Given the description of an element on the screen output the (x, y) to click on. 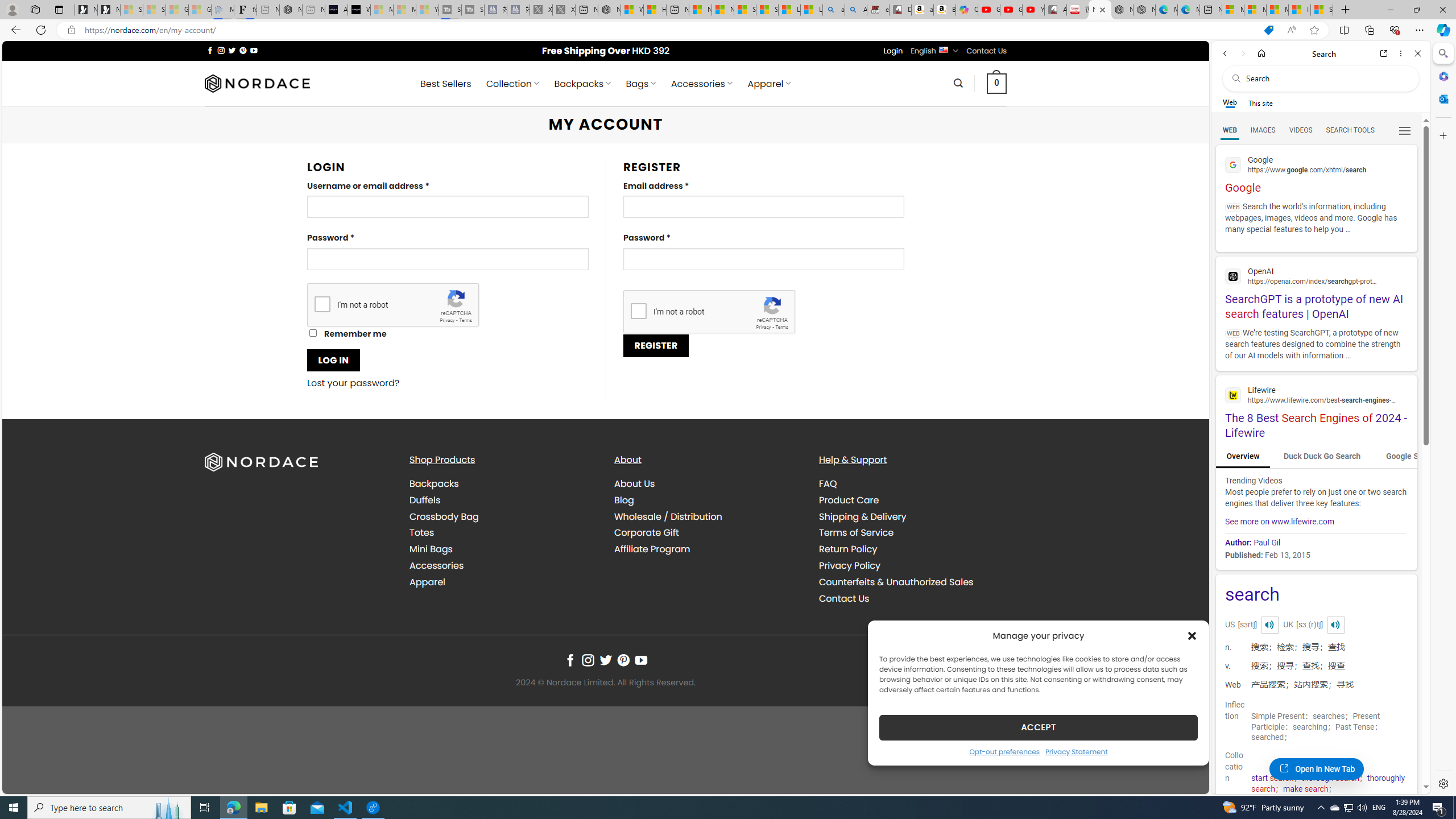
Follow on Facebook (570, 659)
Login (892, 50)
search (1315, 595)
  Best Sellers (445, 83)
Follow on Twitter (605, 659)
Duck Duck Go Search (1321, 456)
Shipping & Delivery (862, 516)
  0   (996, 83)
Amazon Echo Dot PNG - Search Images (856, 9)
